Given the description of an element on the screen output the (x, y) to click on. 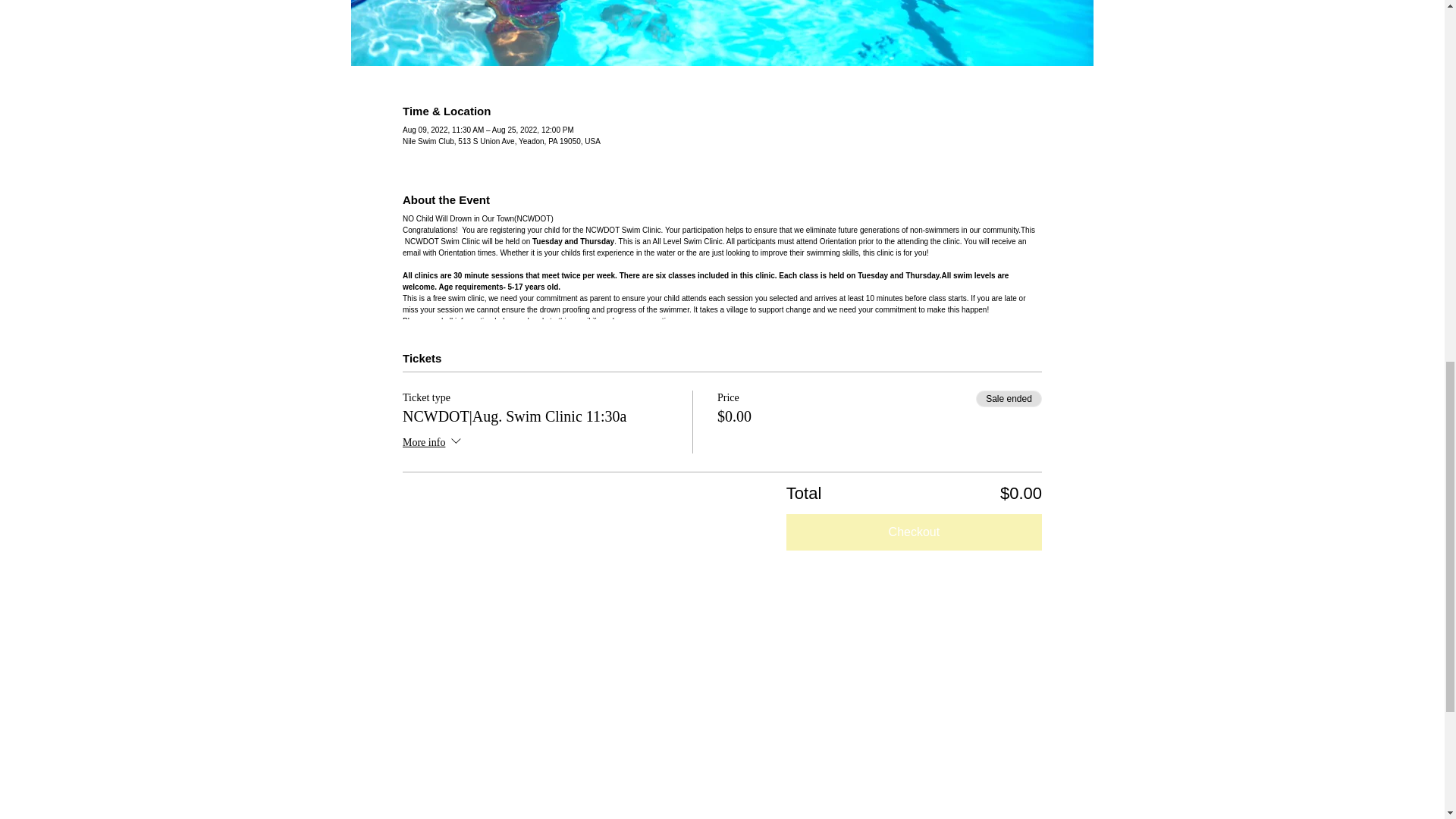
More info (433, 443)
Checkout (914, 532)
